Given the description of an element on the screen output the (x, y) to click on. 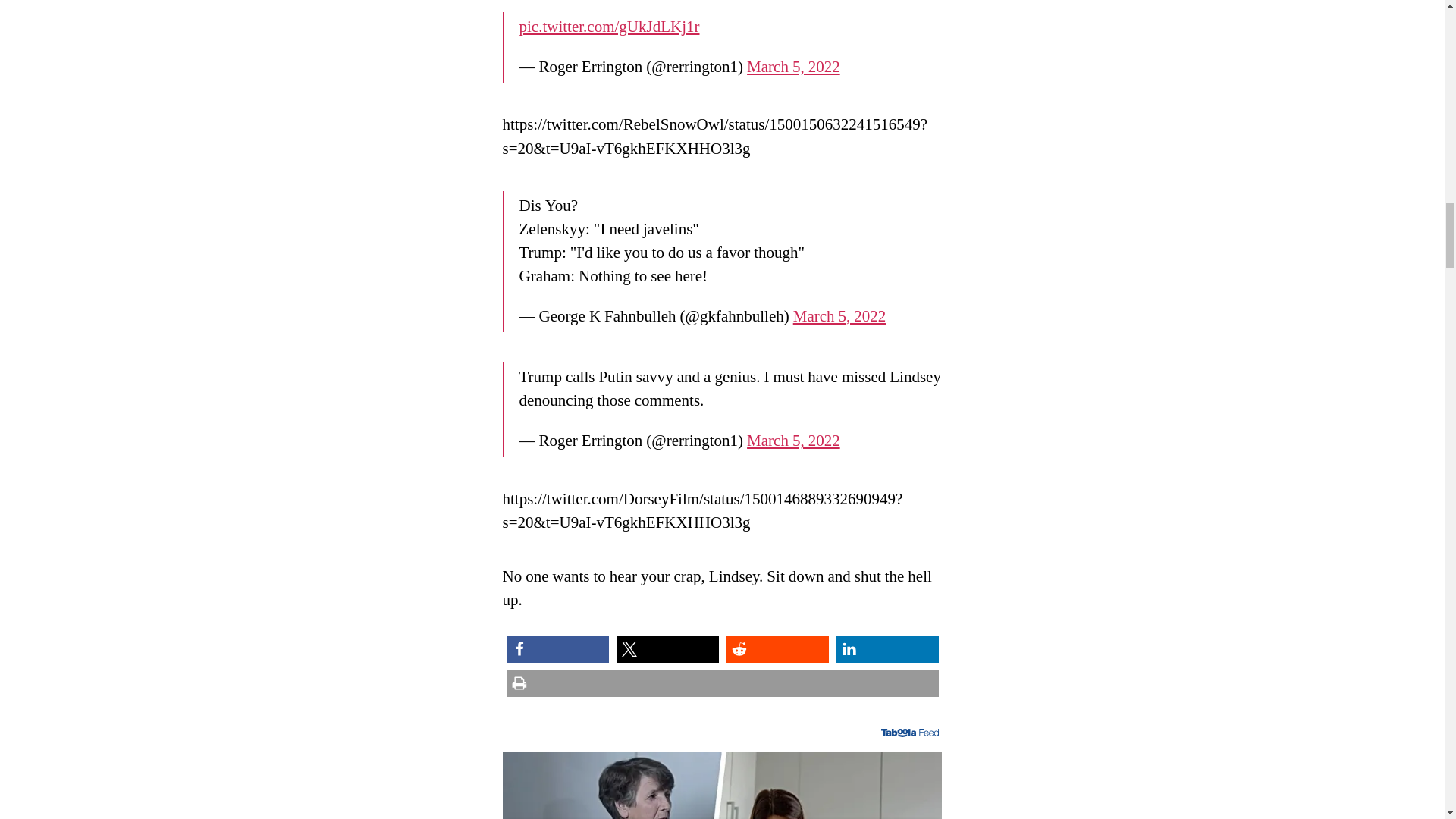
Share on LinkedIn (886, 649)
Share on X (666, 649)
Share on Reddit (777, 649)
March 5, 2022 (839, 316)
March 5, 2022 (793, 66)
print (722, 683)
March 5, 2022 (793, 440)
Share on Facebook (557, 649)
